Given the description of an element on the screen output the (x, y) to click on. 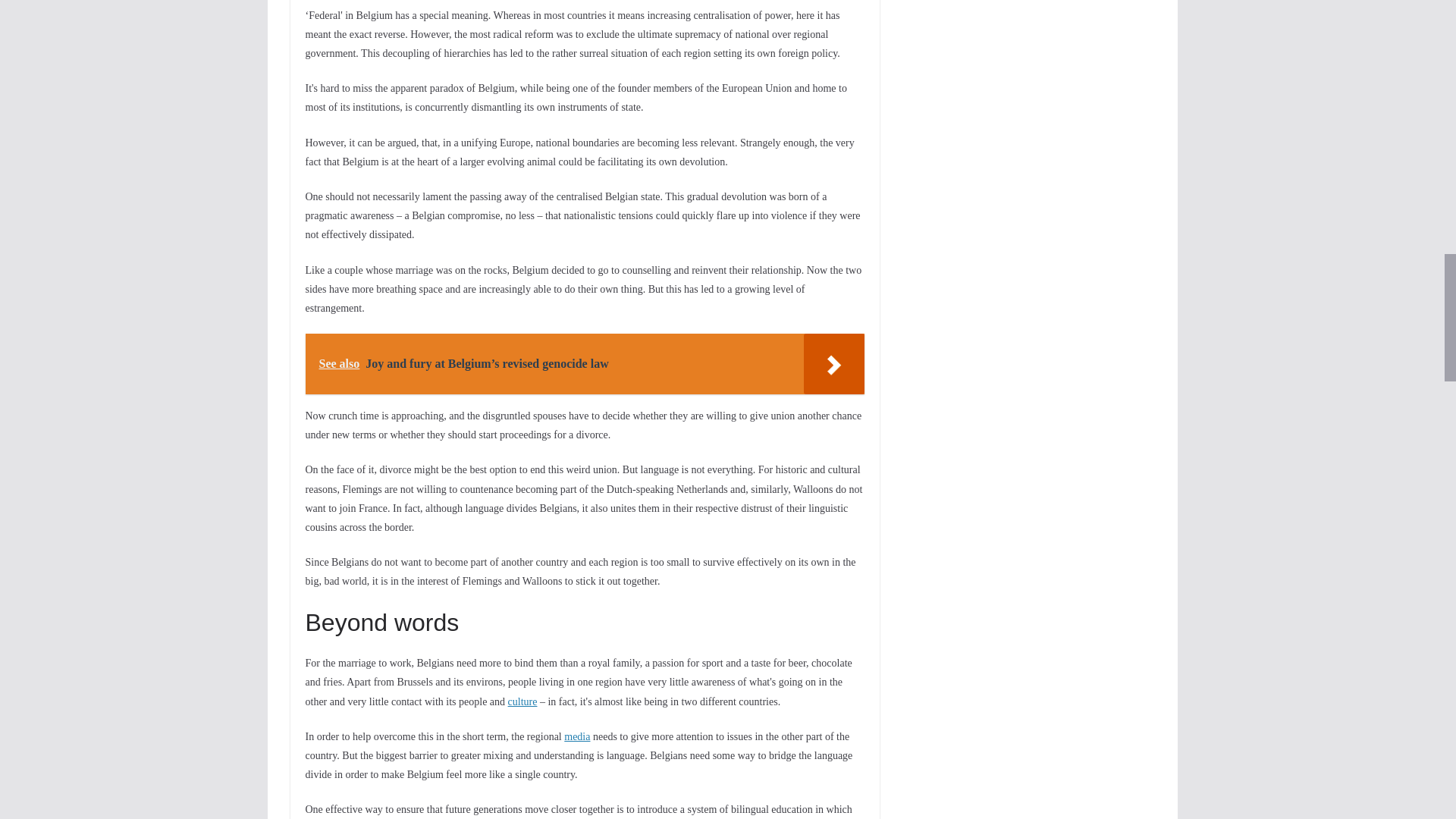
Posts tagged with media (576, 736)
Posts tagged with culture (522, 701)
